Given the description of an element on the screen output the (x, y) to click on. 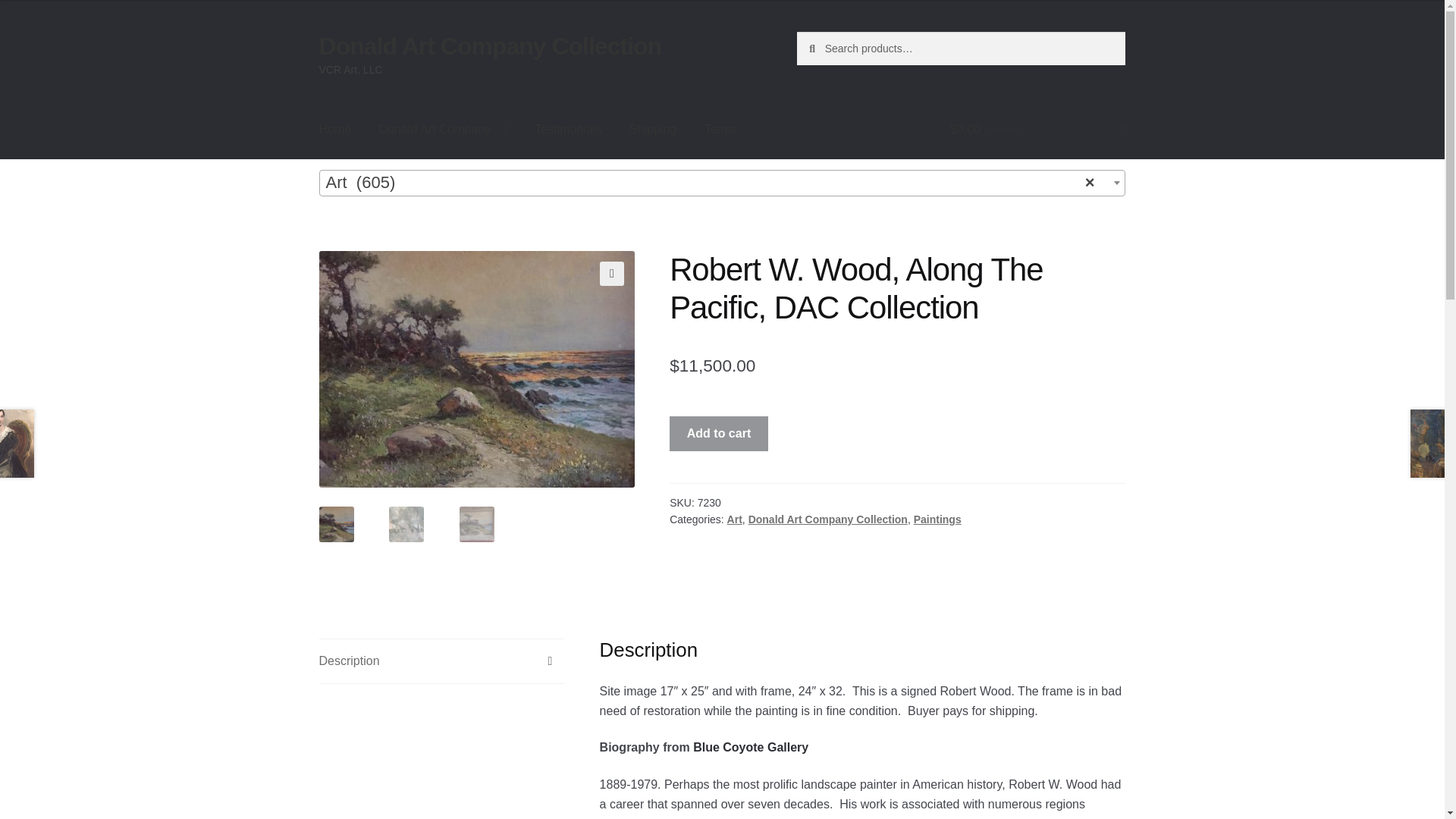
Donald Art Company Collection (827, 519)
Shipping (652, 128)
Donald Art Company Collection (490, 45)
Testimonials (568, 128)
Description (441, 661)
Paintings (937, 519)
Art (734, 519)
View your shopping cart (1037, 128)
Donald Art Company (442, 128)
Terms (721, 128)
Home (335, 128)
Add to cart (718, 433)
Blue Coyote Gallery (750, 747)
